Given the description of an element on the screen output the (x, y) to click on. 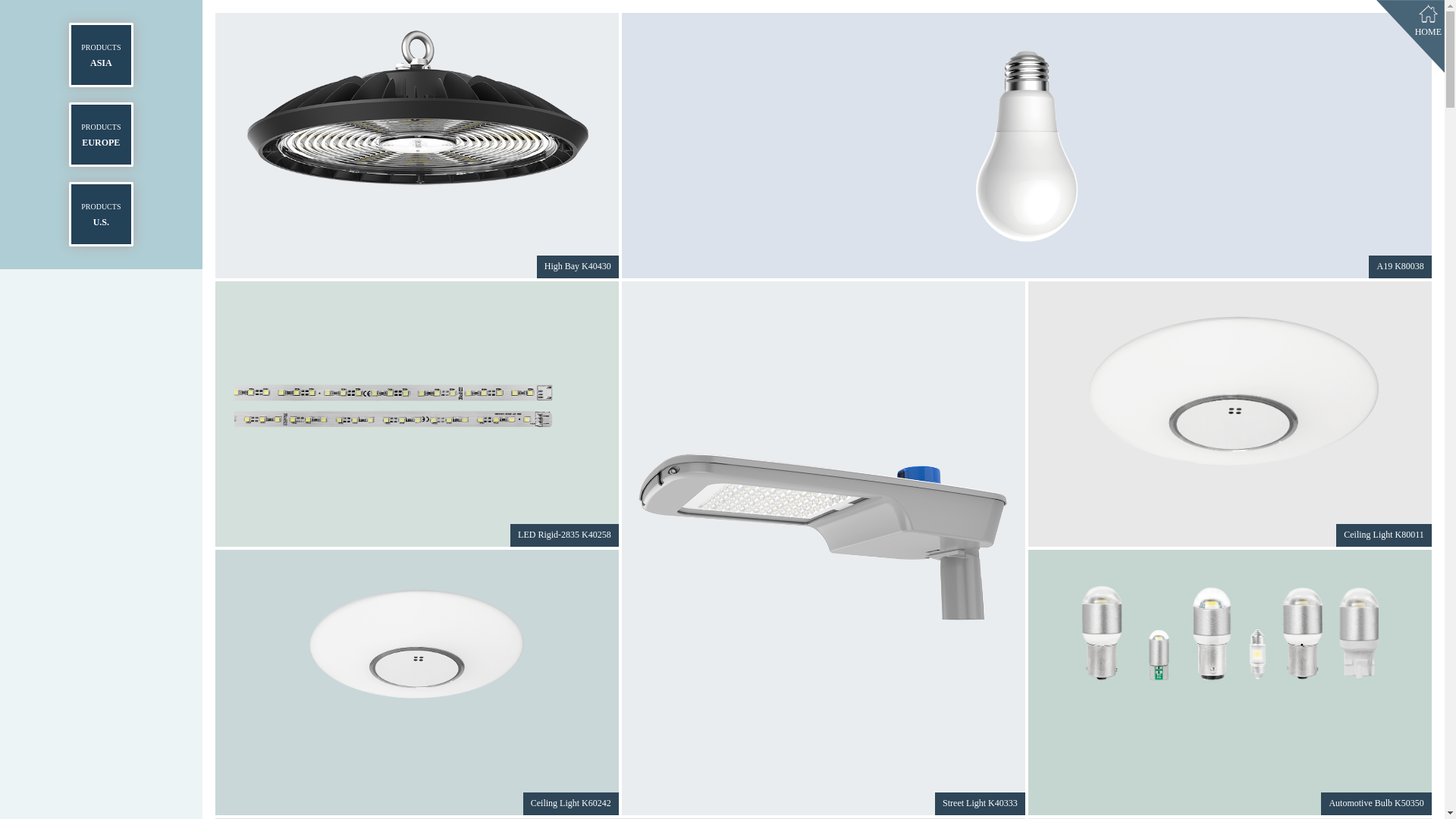
HOME Element type: text (1428, 22)
LED Rigid-2835 K40258 Element type: hover (416, 413)
PRODUCTS
ASIA Element type: text (101, 54)
PRODUCTS
U.S. Element type: text (101, 214)
High Bay K40430 Element type: text (577, 266)
Ceiling Light K80011 Element type: text (1383, 535)
High Bay K40430 Element type: hover (416, 109)
Automotive Bulb K50350 Element type: text (1375, 803)
Ceiling Light K60242 Element type: text (570, 803)
PRODUCTS
EUROPE Element type: text (101, 134)
Ceiling Light K60242 Element type: hover (416, 645)
LED Rigid-2835 K40258 Element type: text (564, 535)
Street Light K40333 Element type: text (980, 803)
Street Light K40333 Element type: hover (823, 528)
A19 K80038 Element type: text (1399, 266)
A19 K80038 Element type: hover (1026, 145)
Automotive Bulb K50350 Element type: hover (1229, 636)
Ceiling Light K80011 Element type: hover (1229, 393)
